Given the description of an element on the screen output the (x, y) to click on. 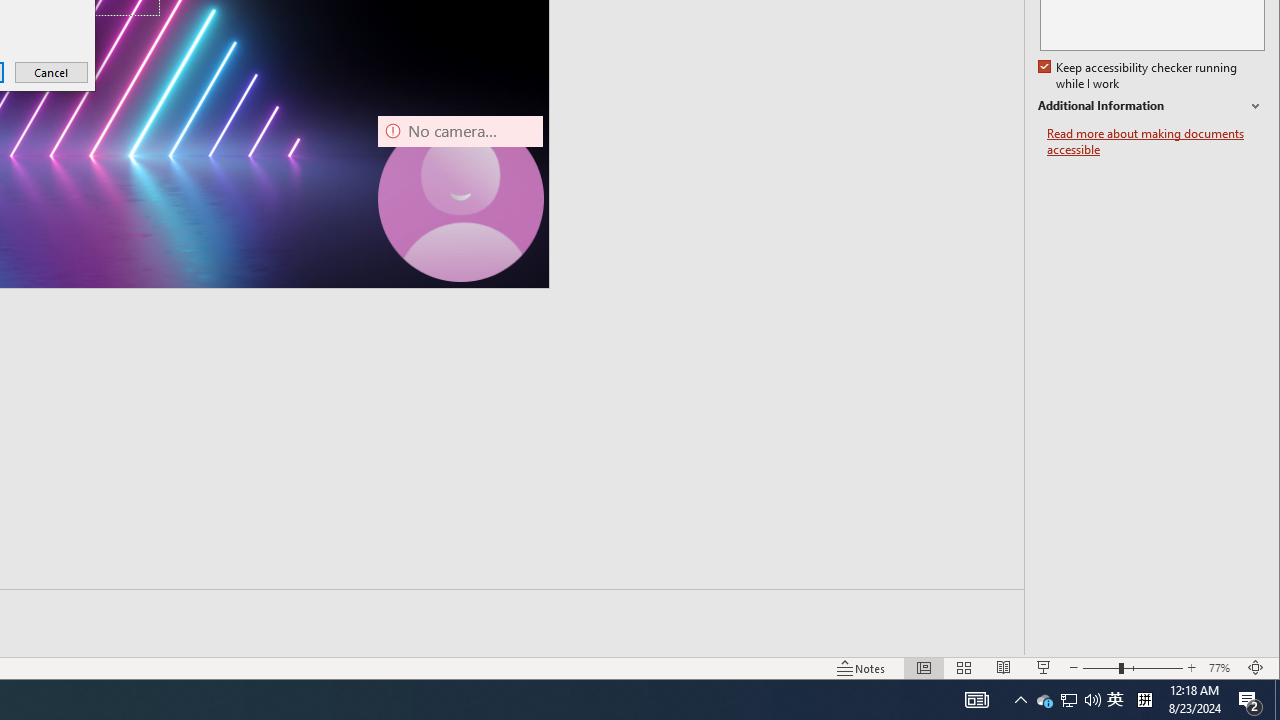
Keep accessibility checker running while I work (1139, 76)
Zoom 77% (1222, 668)
Cancel (51, 72)
Additional Information (1151, 106)
